Given the description of an element on the screen output the (x, y) to click on. 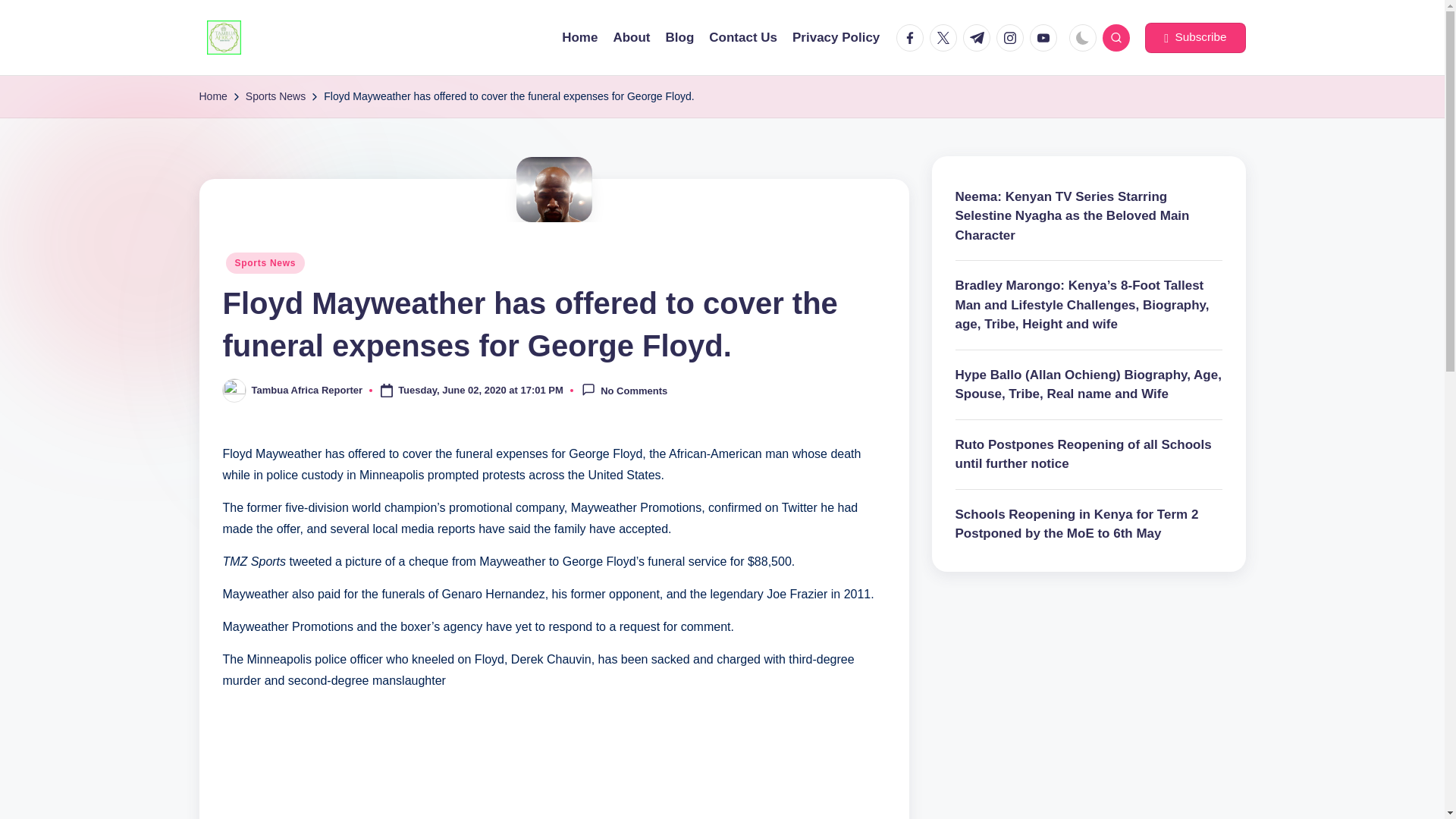
Subscribe (1194, 37)
About (630, 37)
View all posts by Tambua Africa Reporter (306, 389)
Home (212, 96)
Sports News (265, 261)
t.me (978, 37)
Home (579, 37)
Tambua Africa Reporter (306, 389)
No Comments (623, 390)
Privacy Policy (835, 37)
